Given the description of an element on the screen output the (x, y) to click on. 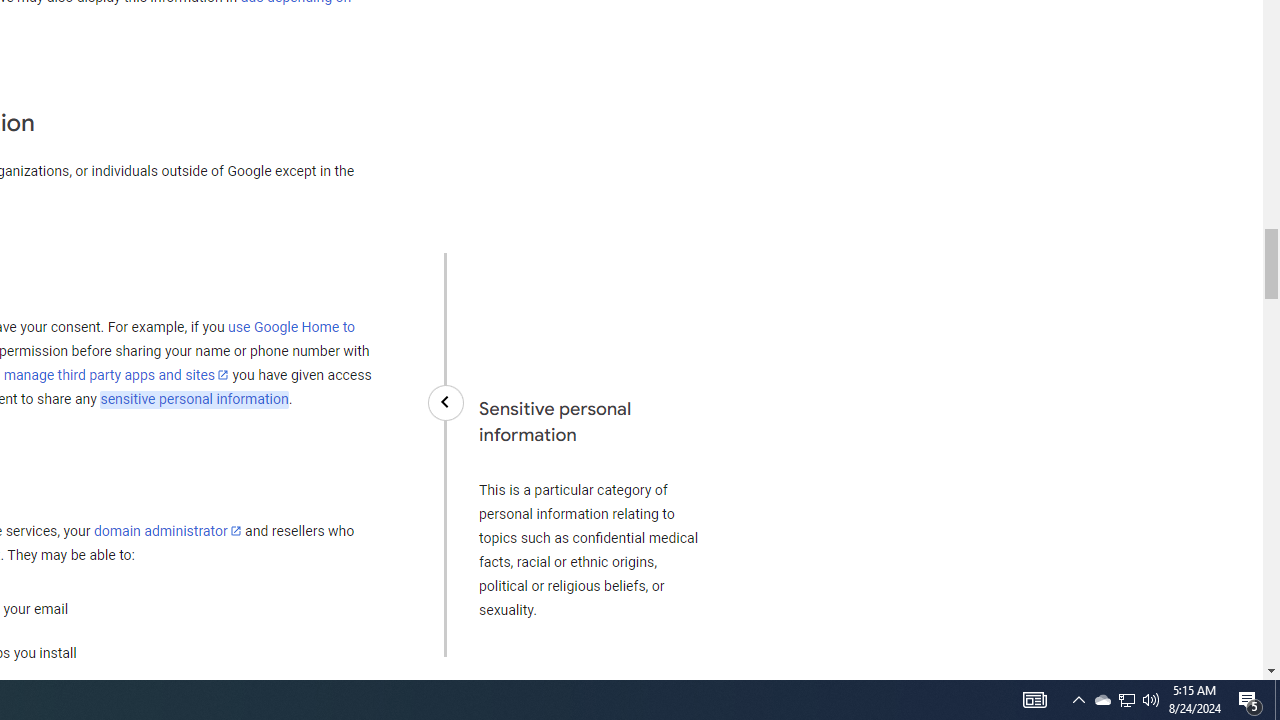
domain administrator (167, 531)
sensitive personal information (194, 399)
